Given the description of an element on the screen output the (x, y) to click on. 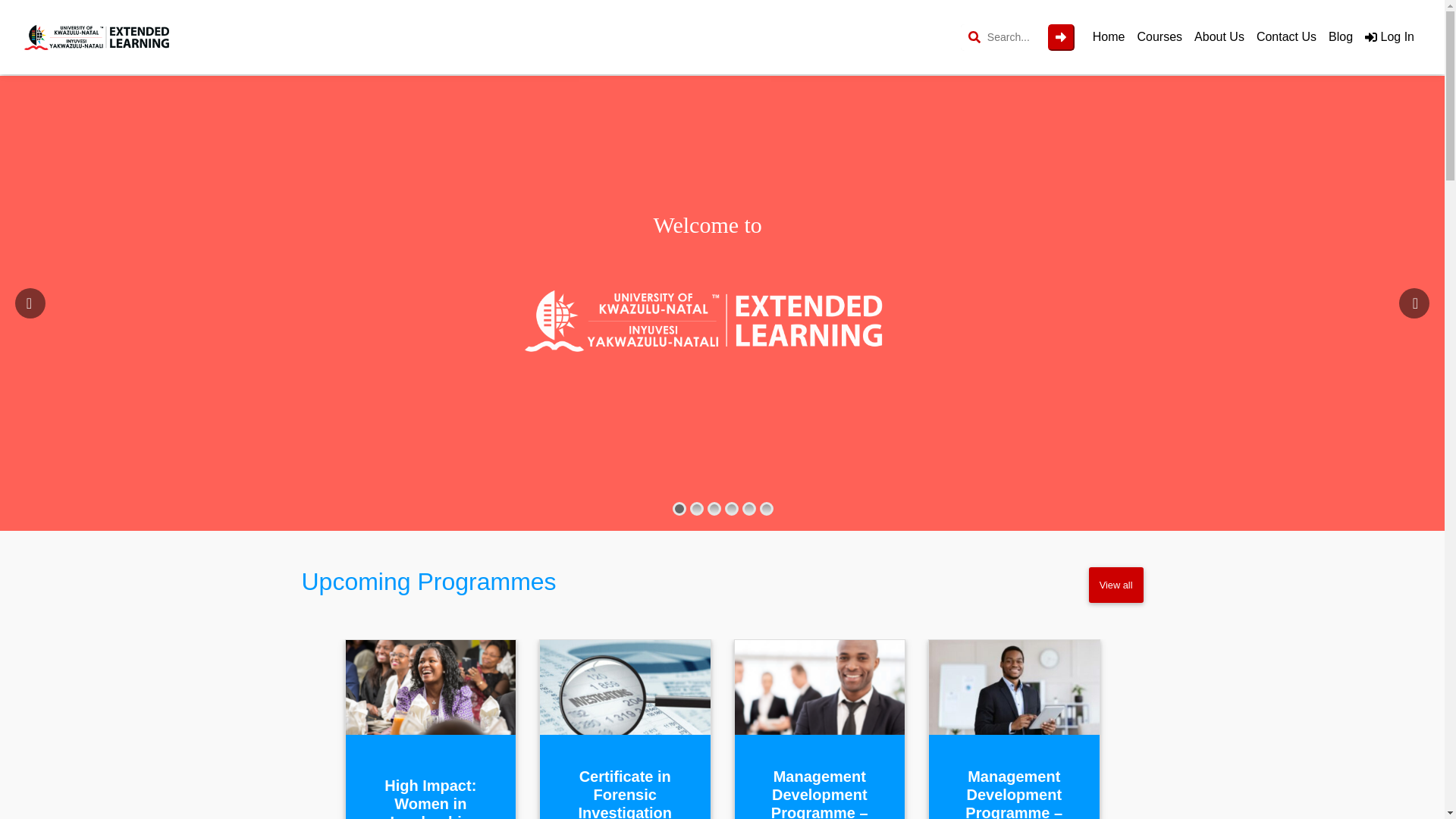
Contact Us (1286, 37)
View all (1115, 584)
About Us (1218, 37)
Certificate in Forensic Investigation Techniques (624, 793)
High Impact: Women in Leadership (430, 797)
Home (1109, 37)
Log In (1389, 37)
Courses (1159, 37)
